Given the description of an element on the screen output the (x, y) to click on. 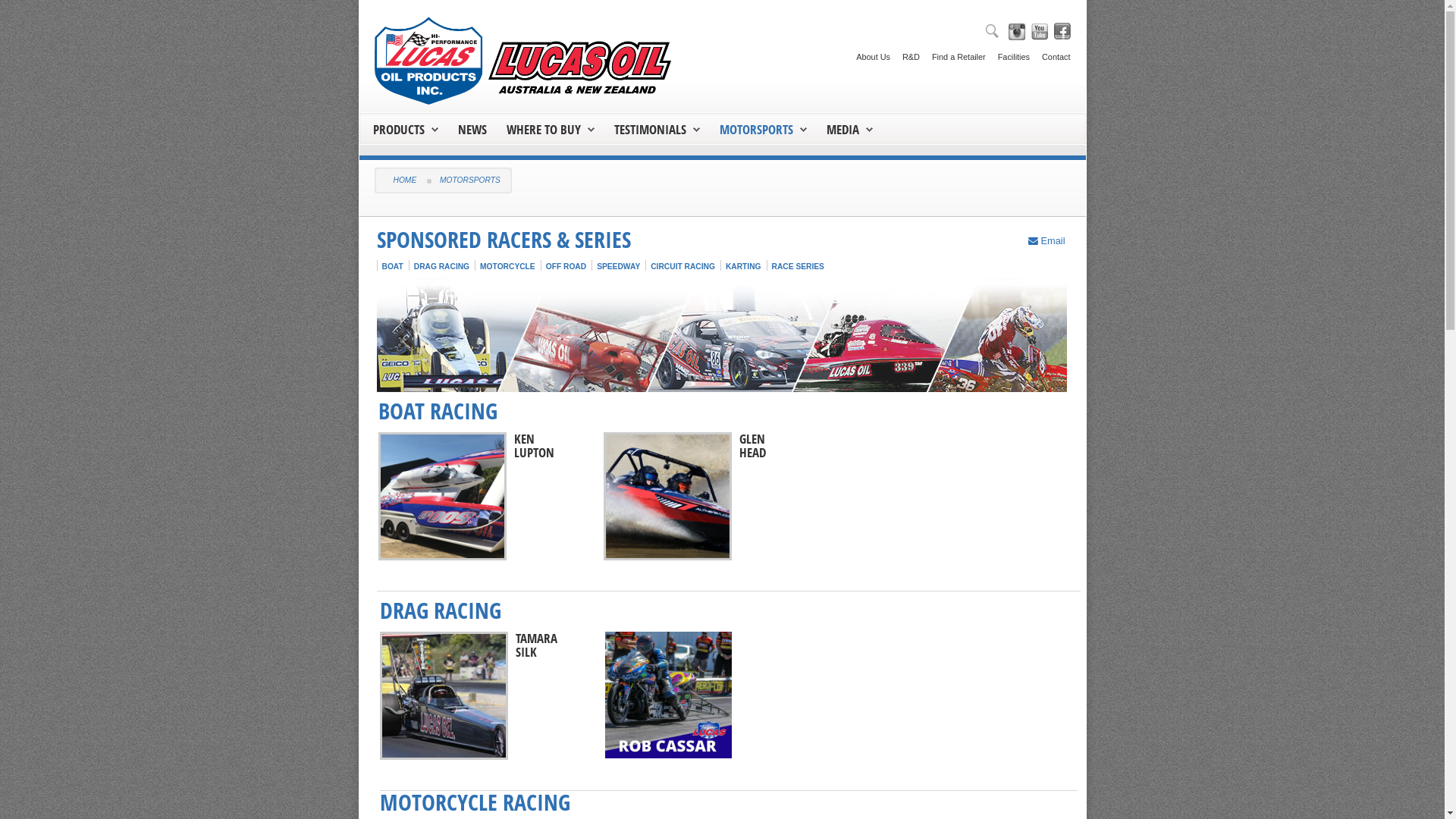
NEWS Element type: text (472, 129)
Contact Element type: text (1049, 52)
R&D Element type: text (904, 52)
MOTORSPORTS Element type: text (469, 179)
PRODUCTS Element type: text (398, 129)
BOAT Element type: text (392, 266)
MEDIA Element type: text (842, 129)
CIRCUIT RACING Element type: text (682, 266)
PRODUCTS Element type: text (405, 129)
About Us Element type: text (867, 52)
MOTORCYCLE Element type: text (507, 266)
TESTIMONIALS Element type: text (650, 129)
WHERE TO BUY Element type: text (550, 129)
KARTING Element type: text (743, 266)
MEDIA Element type: text (849, 129)
MOTORSPORTS Element type: text (762, 129)
RACE SERIES Element type: text (797, 266)
DRAG RACING Element type: text (441, 266)
Find a Retailer Element type: text (952, 52)
OFF ROAD Element type: text (566, 266)
HOME Element type: text (404, 179)
Email Element type: text (1046, 240)
SPONSORED RACERS & SERIES Element type: text (503, 238)
MOTORSPORTS Element type: text (755, 129)
SPEEDWAY Element type: text (618, 266)
Facilities Element type: text (1007, 52)
WHERE TO BUY Element type: text (543, 129)
Lucas Oil Logo Element type: hover (525, 60)
TESTIMONIALS Element type: text (656, 129)
